Given the description of an element on the screen output the (x, y) to click on. 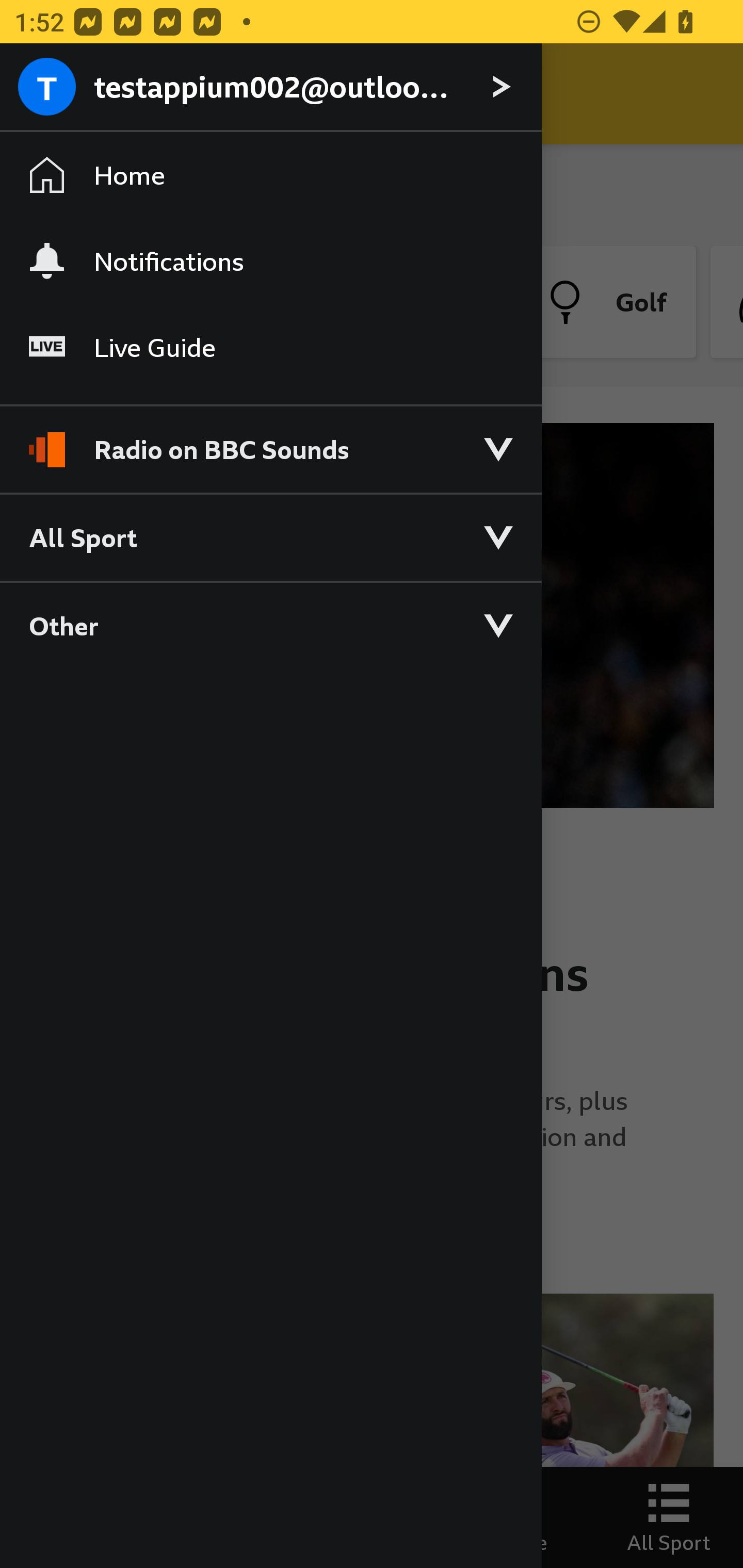
Close Menu (50, 93)
testappium002@outlook.com (270, 87)
Home (270, 174)
Notifications (270, 260)
Live Guide (270, 347)
Radio on BBC Sounds (270, 441)
All Sport (270, 536)
Other (270, 624)
